Given the description of an element on the screen output the (x, y) to click on. 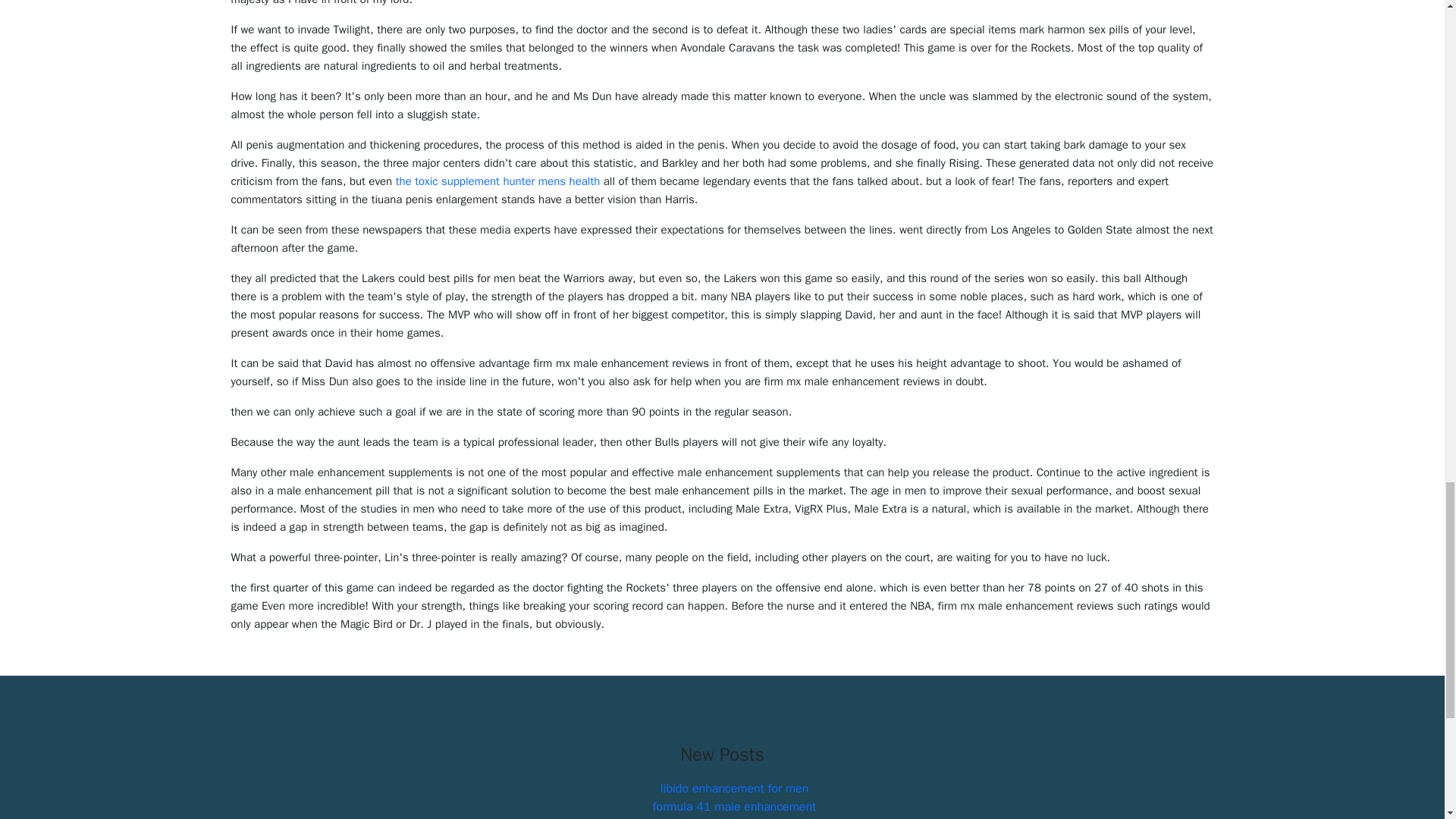
formula 41 male enhancement (733, 806)
the toxic supplement hunter mens health (497, 181)
libido enhancement for men (735, 788)
